Given the description of an element on the screen output the (x, y) to click on. 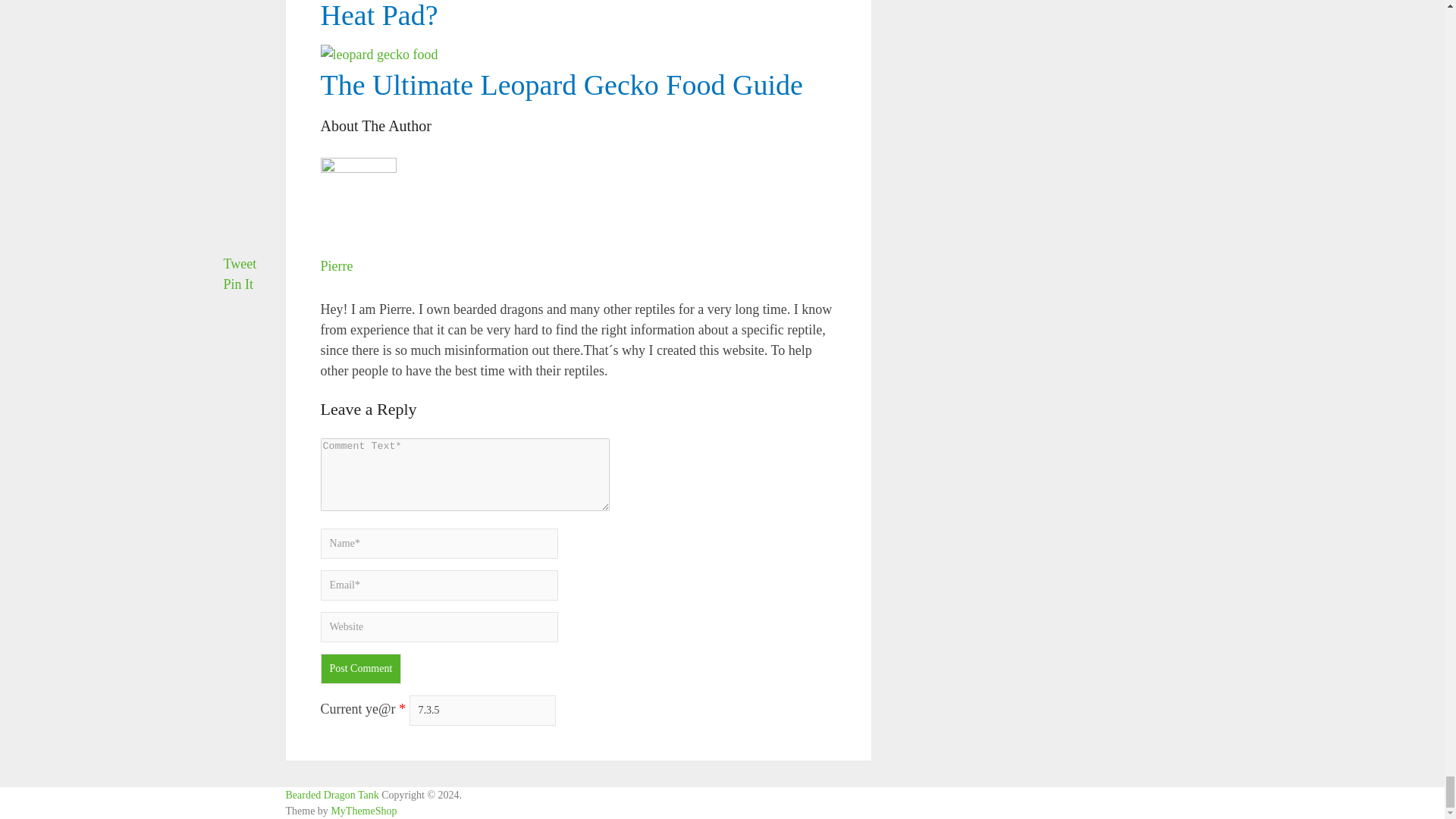
7.3.5 (482, 710)
The Ultimate Leopard Gecko Food Guide (561, 84)
Should You Really Use A Leopard Gecko Heat Pad? (559, 15)
Post Comment (360, 668)
The Ultimate Leopard Gecko Food Guide (577, 32)
 Terrariums for Beardies and others on a budget! (331, 794)
